Given the description of an element on the screen output the (x, y) to click on. 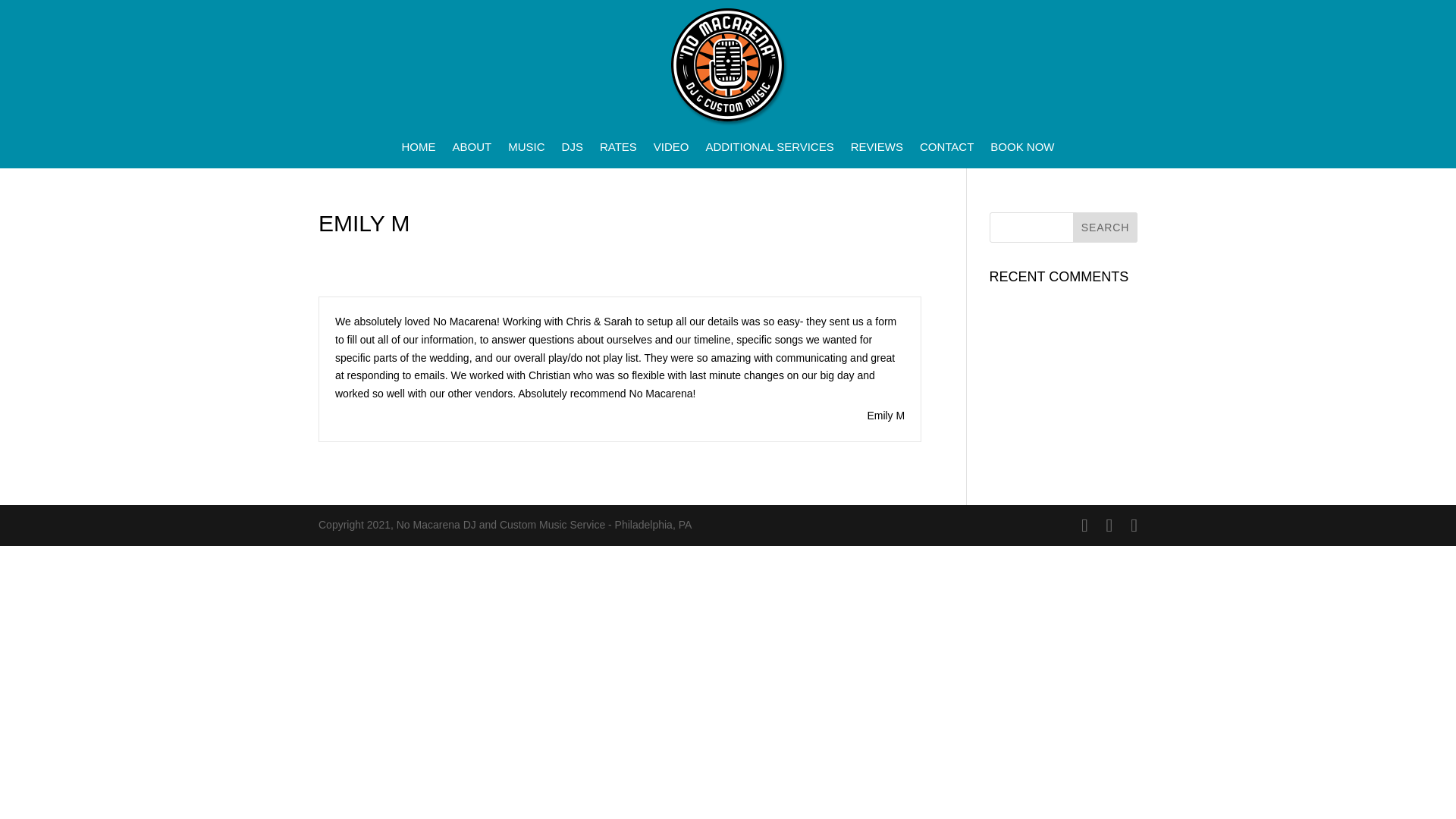
VIDEO (670, 149)
CONTACT (947, 149)
MUSIC (526, 149)
HOME (418, 149)
ADDITIONAL SERVICES (768, 149)
BOOK NOW (1022, 149)
ABOUT (472, 149)
Search (1105, 227)
Search (1105, 227)
RATES (618, 149)
REVIEWS (876, 149)
DJS (572, 149)
